Given the description of an element on the screen output the (x, y) to click on. 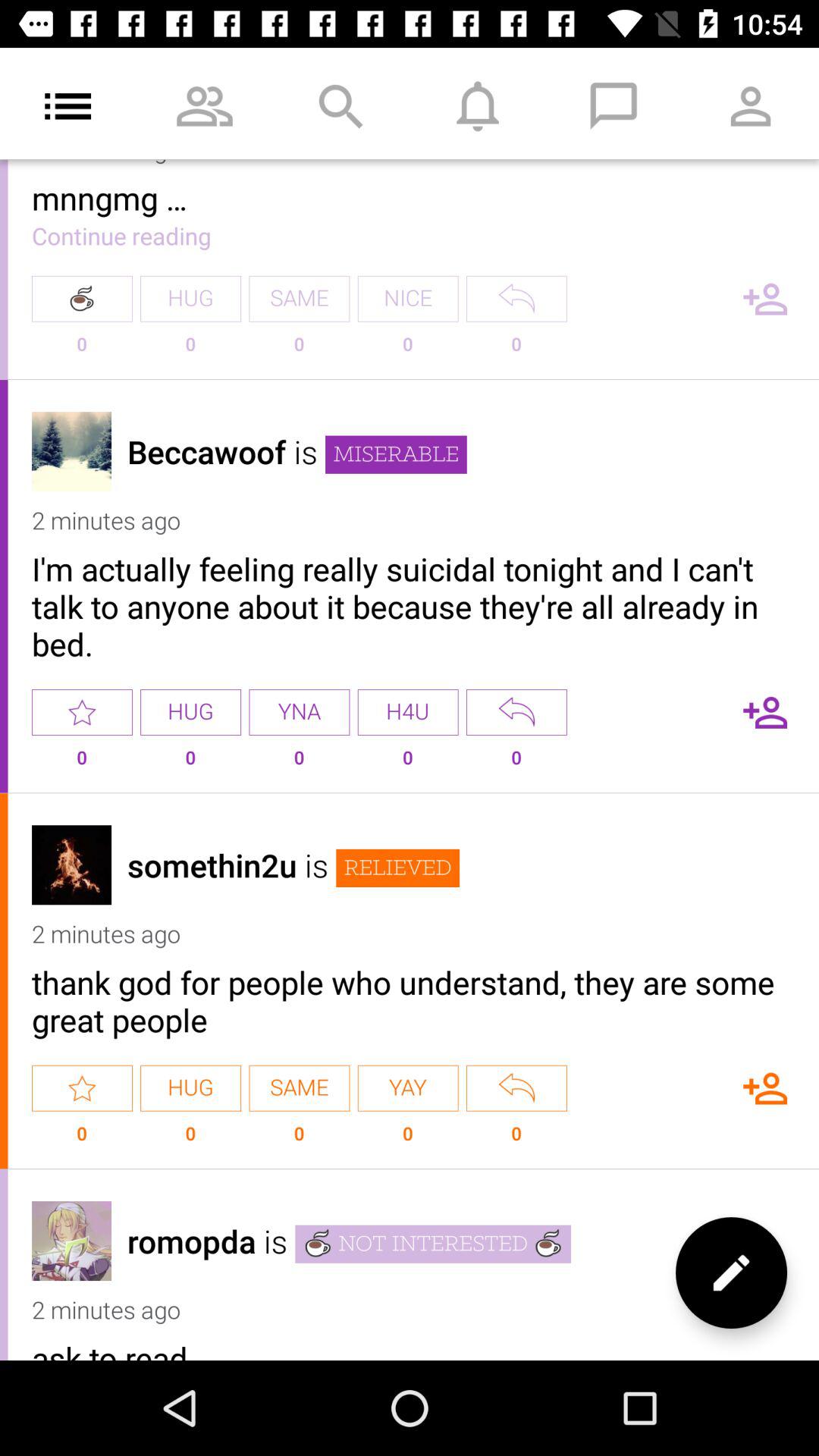
save as a favorite (81, 712)
